Given the description of an element on the screen output the (x, y) to click on. 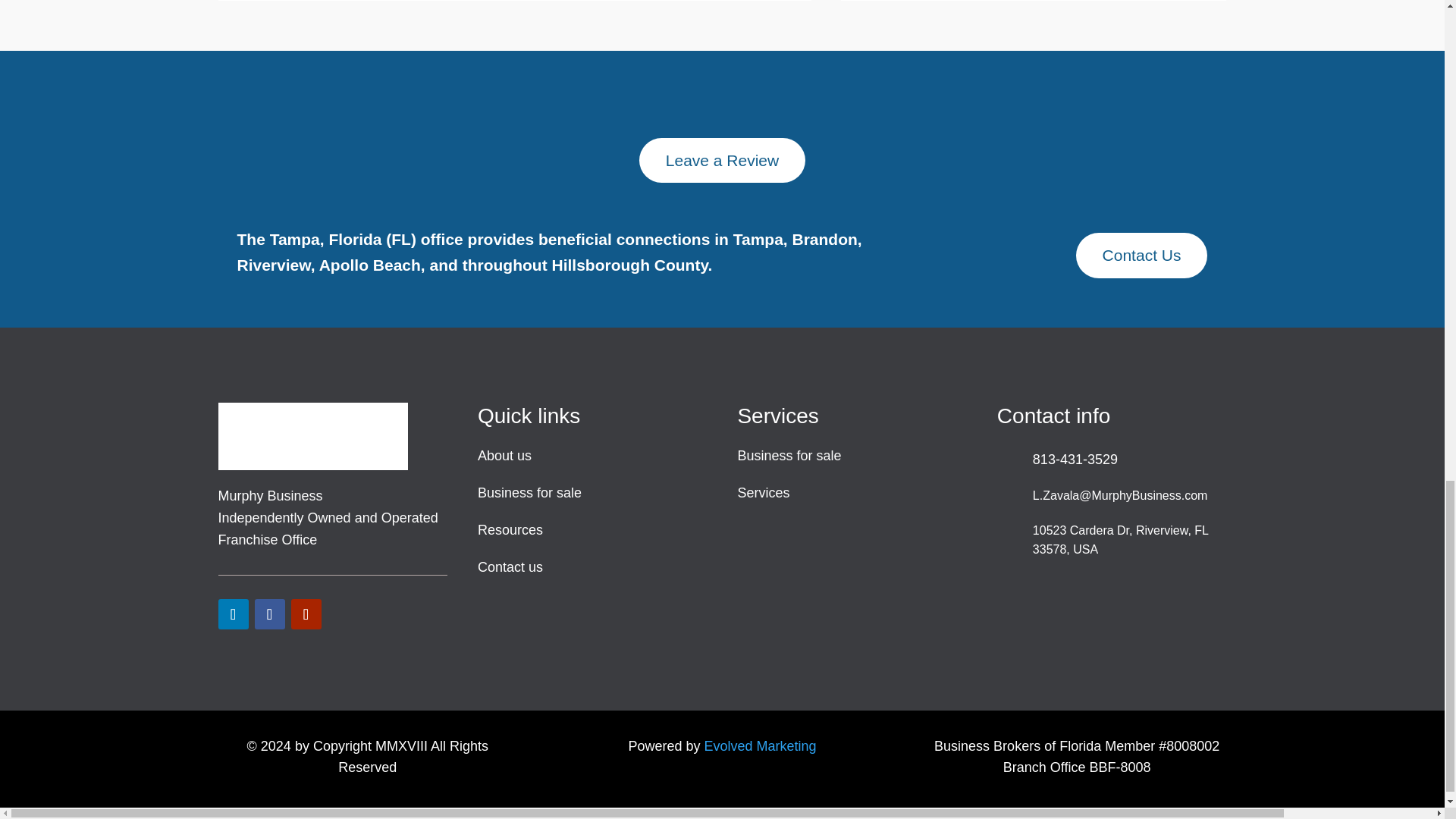
Follow on LinkedIn (233, 613)
Follow on Youtube (306, 613)
Follow on Facebook (269, 613)
